Given the description of an element on the screen output the (x, y) to click on. 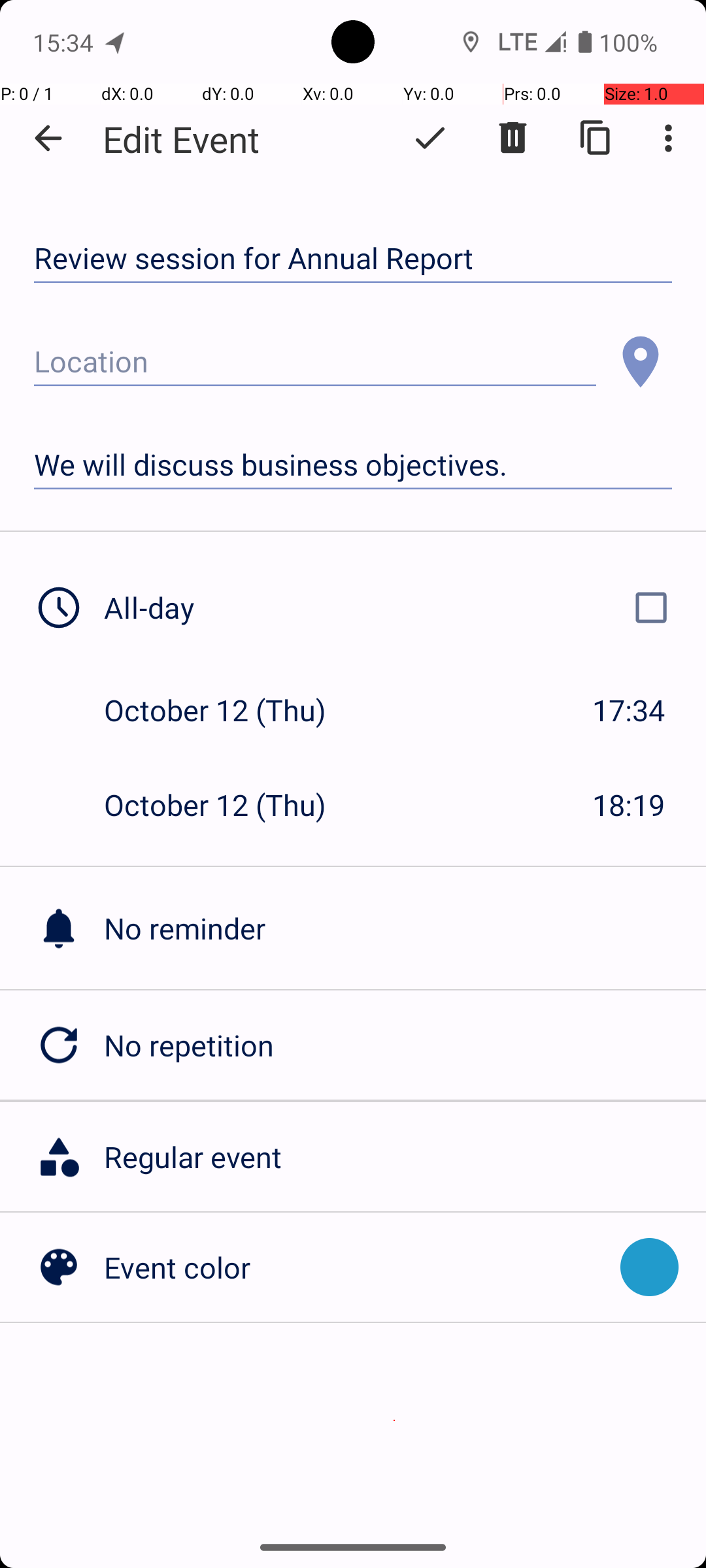
We will discuss business objectives. Element type: android.widget.EditText (352, 465)
October 12 (Thu) Element type: android.widget.TextView (228, 709)
17:34 Element type: android.widget.TextView (628, 709)
18:19 Element type: android.widget.TextView (628, 804)
